Given the description of an element on the screen output the (x, y) to click on. 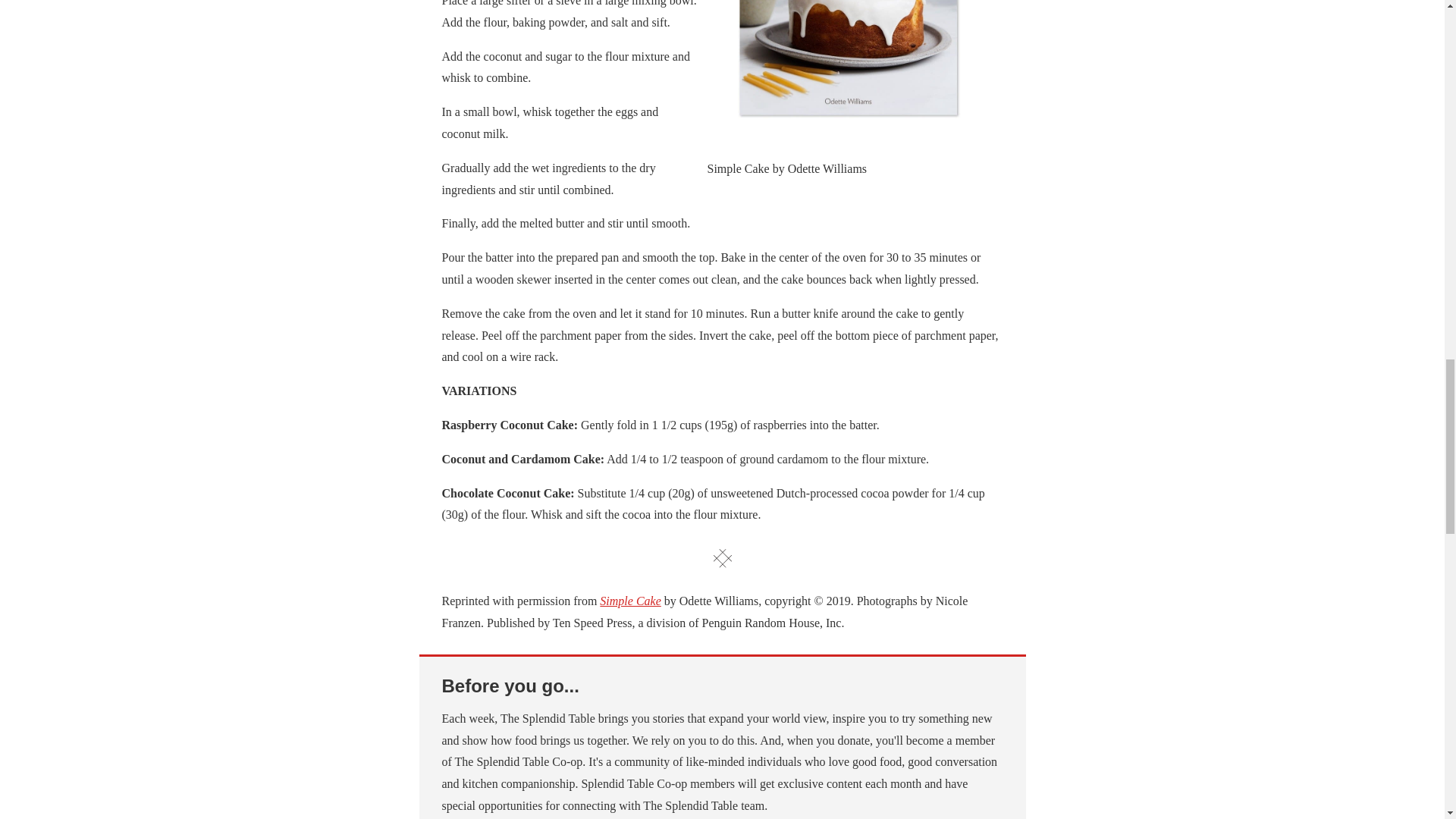
Simple Cake (630, 600)
